Given the description of an element on the screen output the (x, y) to click on. 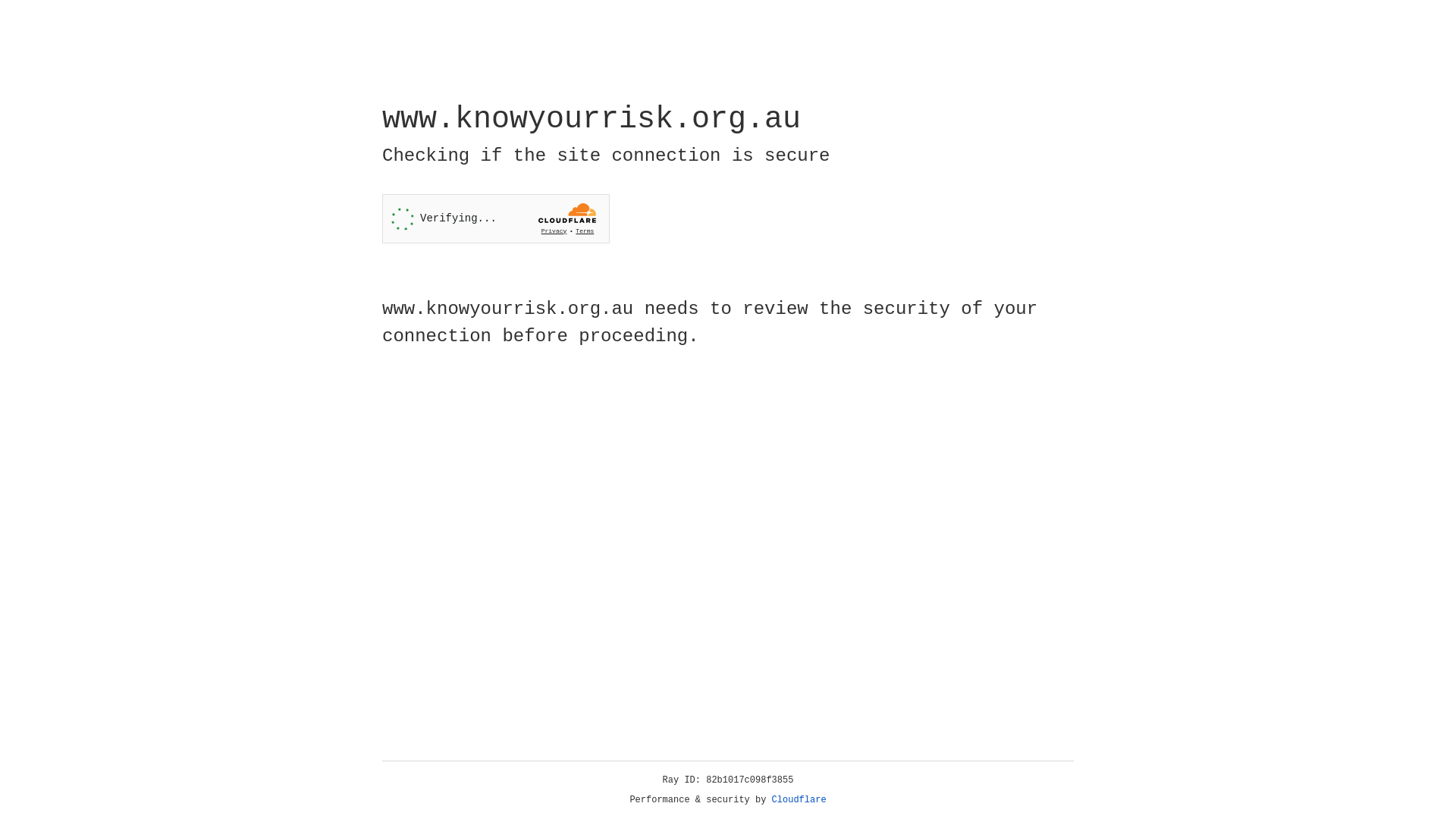
Widget containing a Cloudflare security challenge Element type: hover (495, 218)
Cloudflare Element type: text (798, 799)
